Given the description of an element on the screen output the (x, y) to click on. 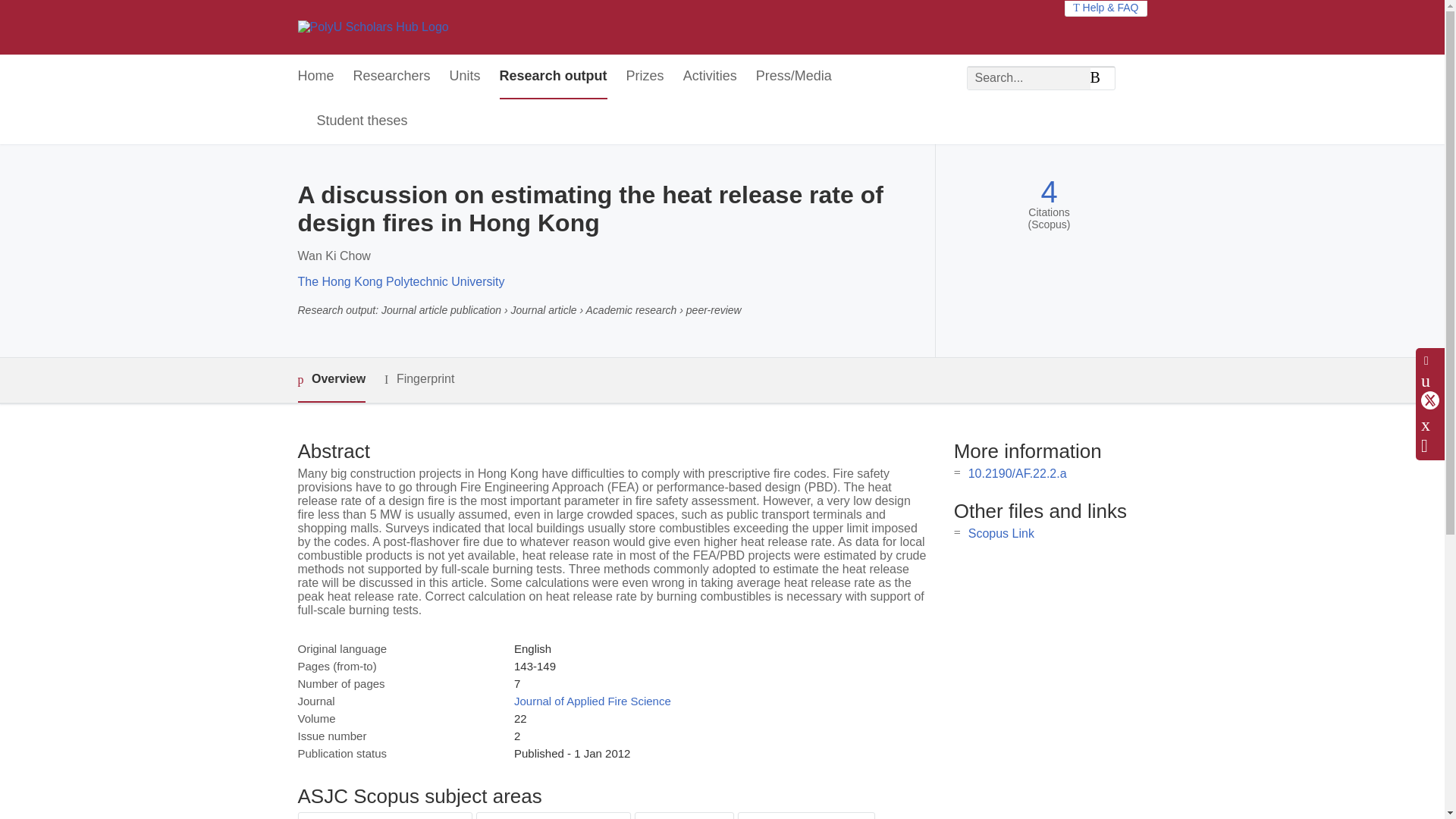
The Hong Kong Polytechnic University (400, 281)
Research output (553, 76)
4 (1049, 192)
Student theses (362, 121)
Researchers (391, 76)
Overview (331, 379)
Journal of Applied Fire Science (592, 700)
Activities (709, 76)
PolyU Scholars Hub Home (372, 27)
Home (315, 76)
Scopus Link (1000, 533)
Fingerprint (419, 379)
Prizes (644, 76)
Units (464, 76)
